Given the description of an element on the screen output the (x, y) to click on. 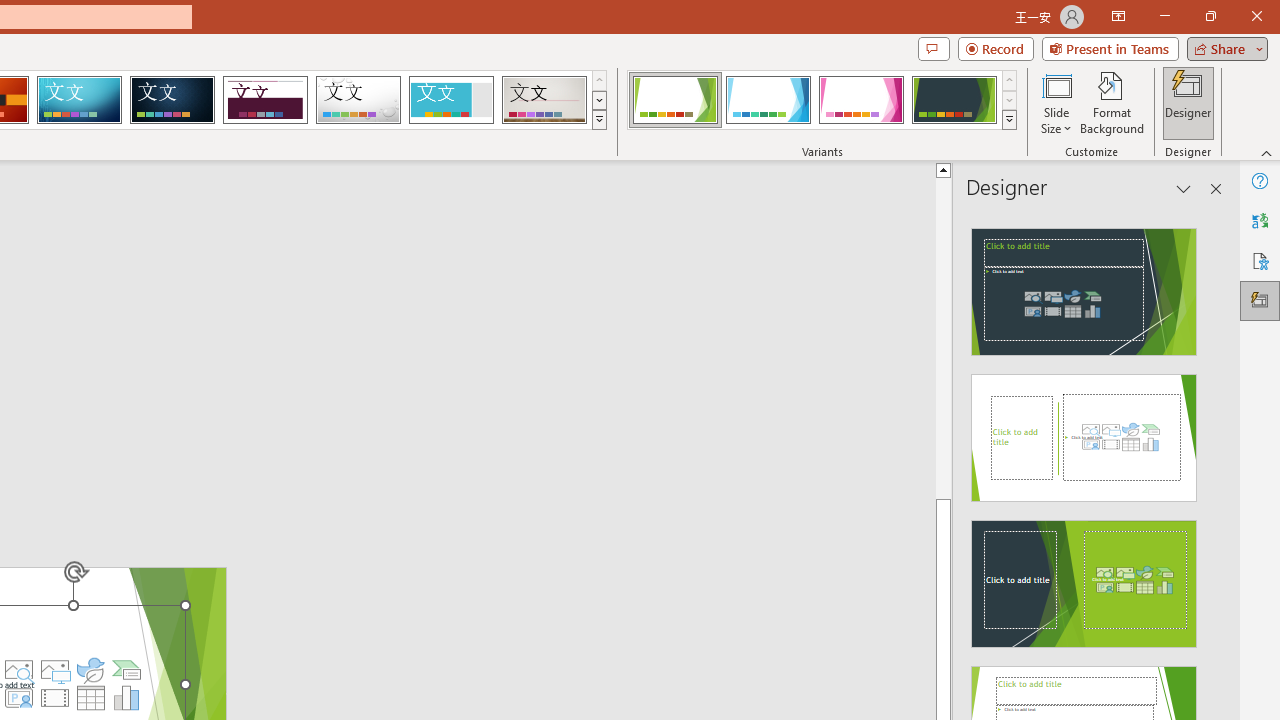
Frame (450, 100)
Facet Variant 1 (674, 100)
Facet Variant 3 (861, 100)
Facet Variant 2 (768, 100)
